Given the description of an element on the screen output the (x, y) to click on. 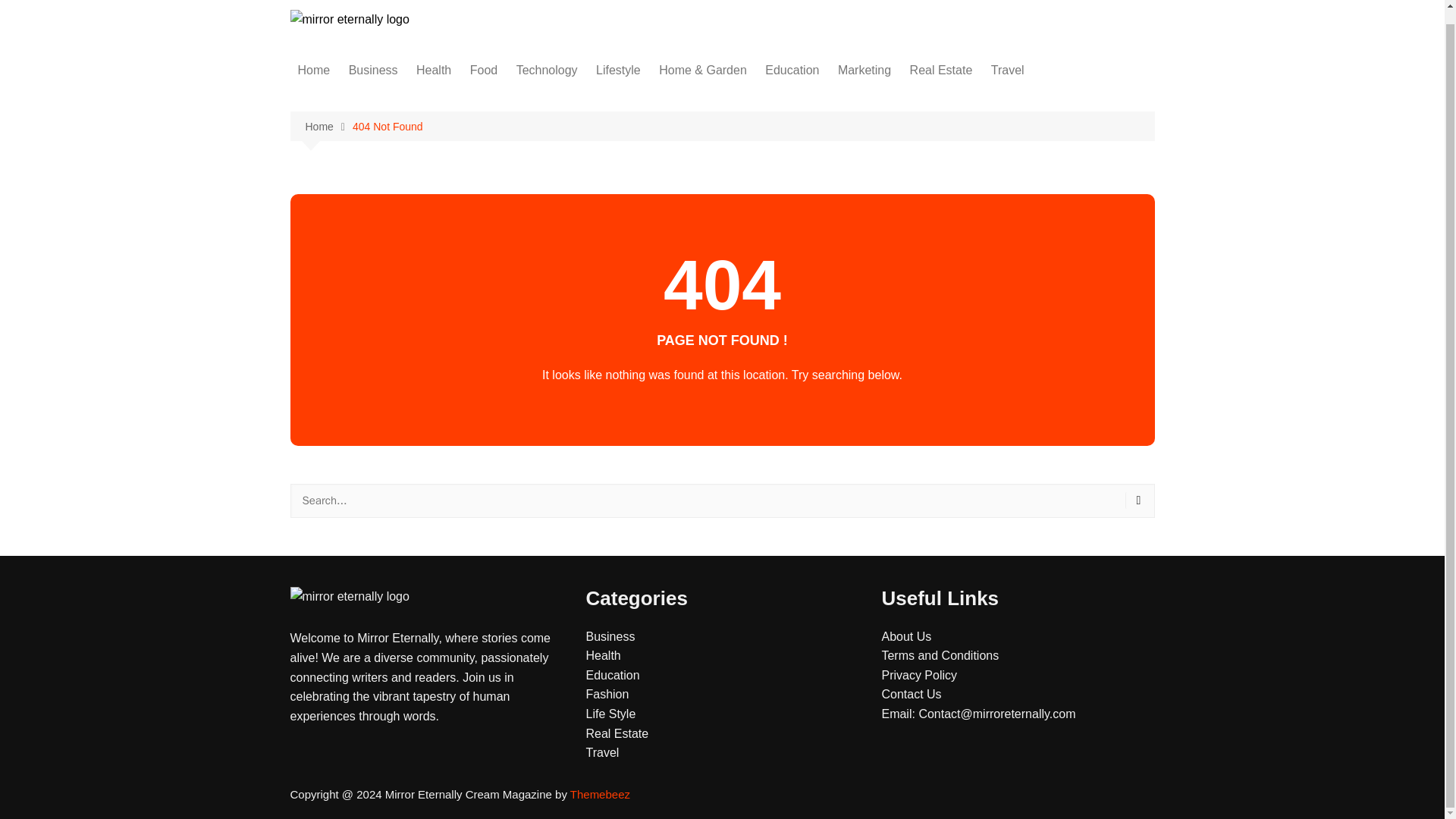
Health (433, 70)
Technology (546, 70)
Terms and Conditions (939, 655)
Travel (601, 752)
Home (313, 70)
404 Not Found (387, 126)
Travel (1008, 70)
Privacy Policy (918, 675)
Contact Us (910, 694)
Business (609, 635)
